Given the description of an element on the screen output the (x, y) to click on. 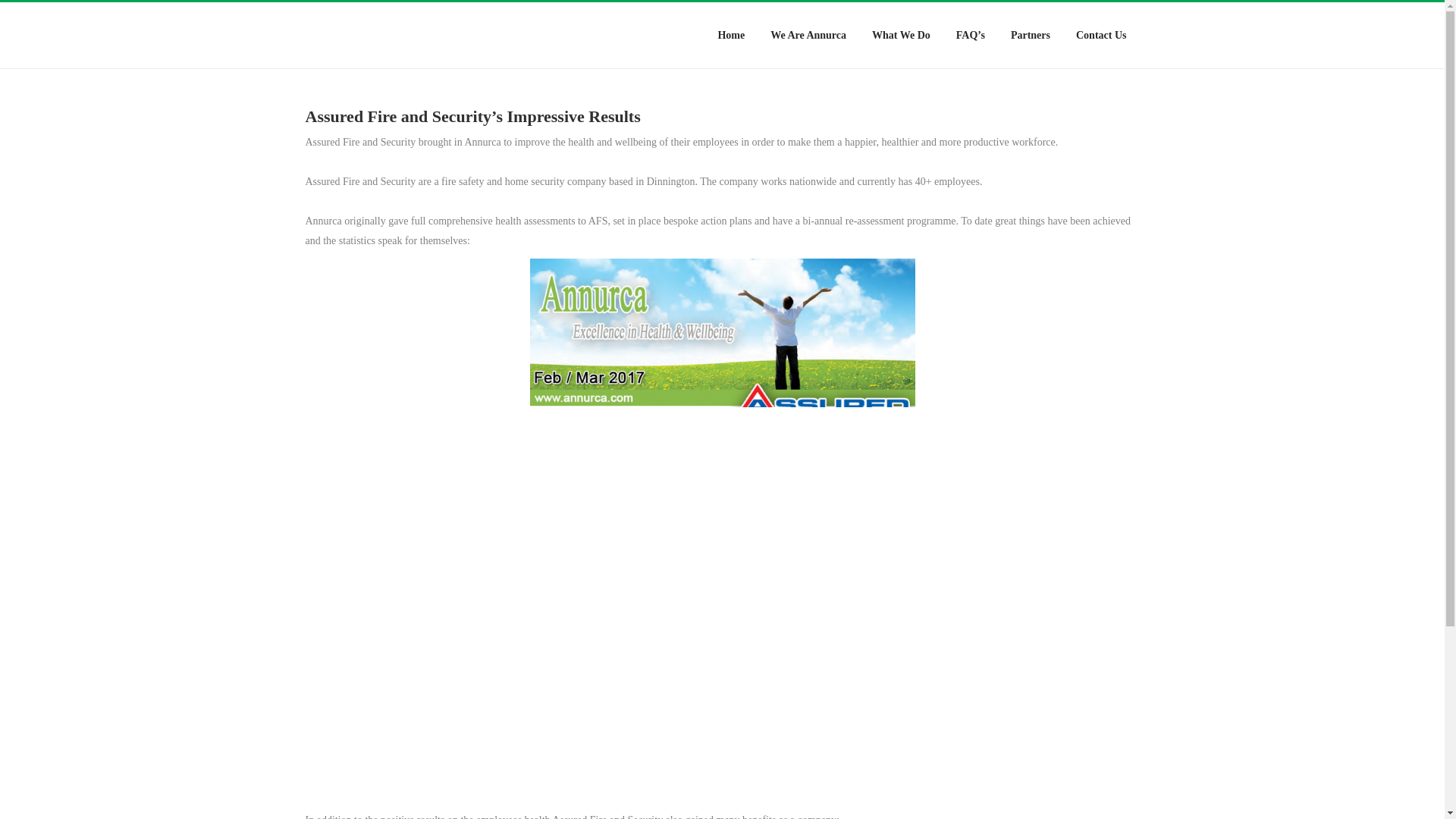
Mental Wellbeing (733, 567)
What We Do (901, 34)
We Are Annurca (808, 34)
Partners (1029, 34)
Wellbeing Initiatives (733, 538)
Financial Wellbeing (733, 597)
Case Studies (733, 449)
Contact Us (1101, 34)
We Are Annurca (729, 433)
Blog (733, 478)
What We Do (729, 521)
Home (729, 402)
